Given the description of an element on the screen output the (x, y) to click on. 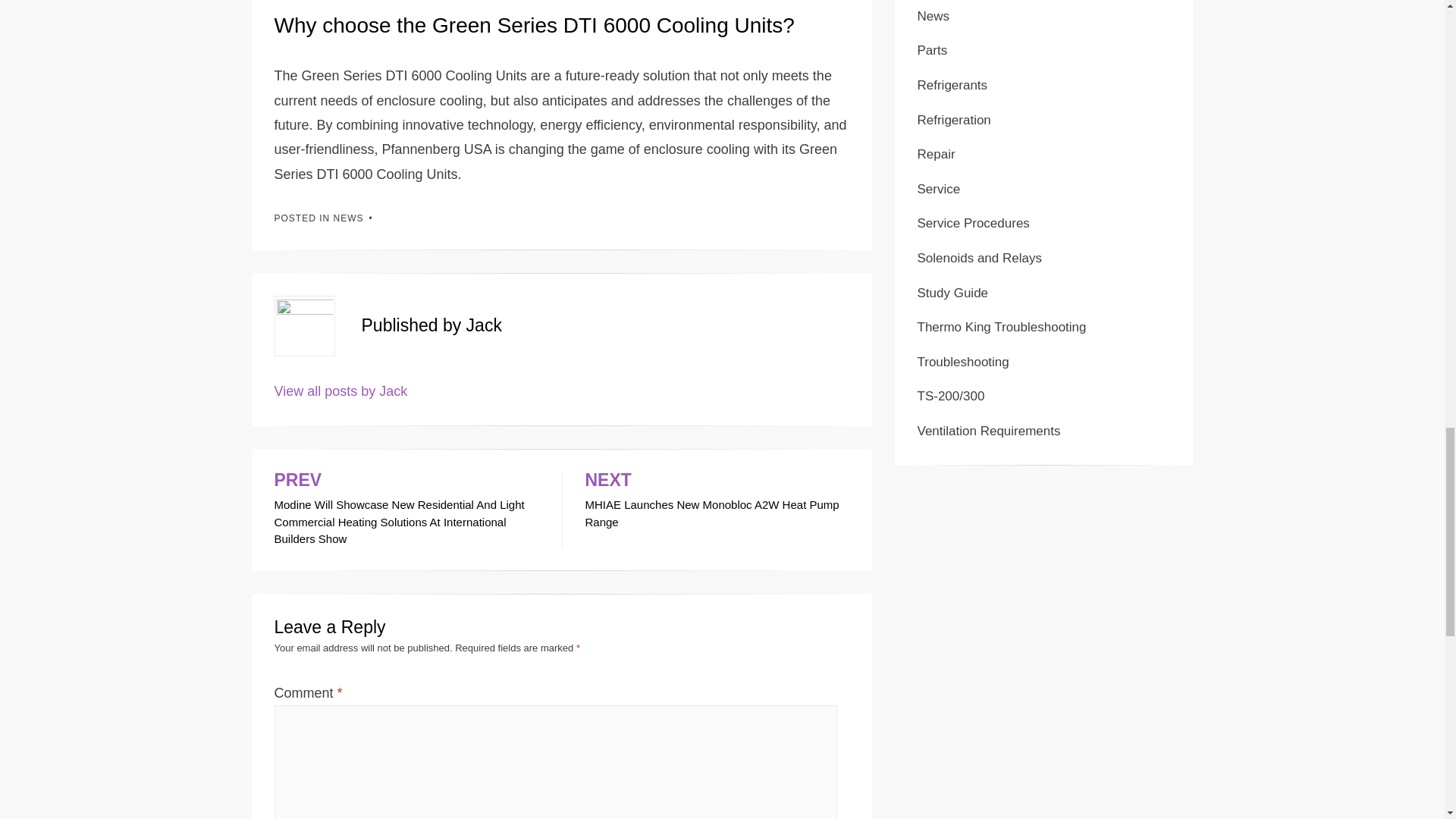
News (933, 16)
NEWS (348, 217)
View all posts by Jack (716, 500)
